Given the description of an element on the screen output the (x, y) to click on. 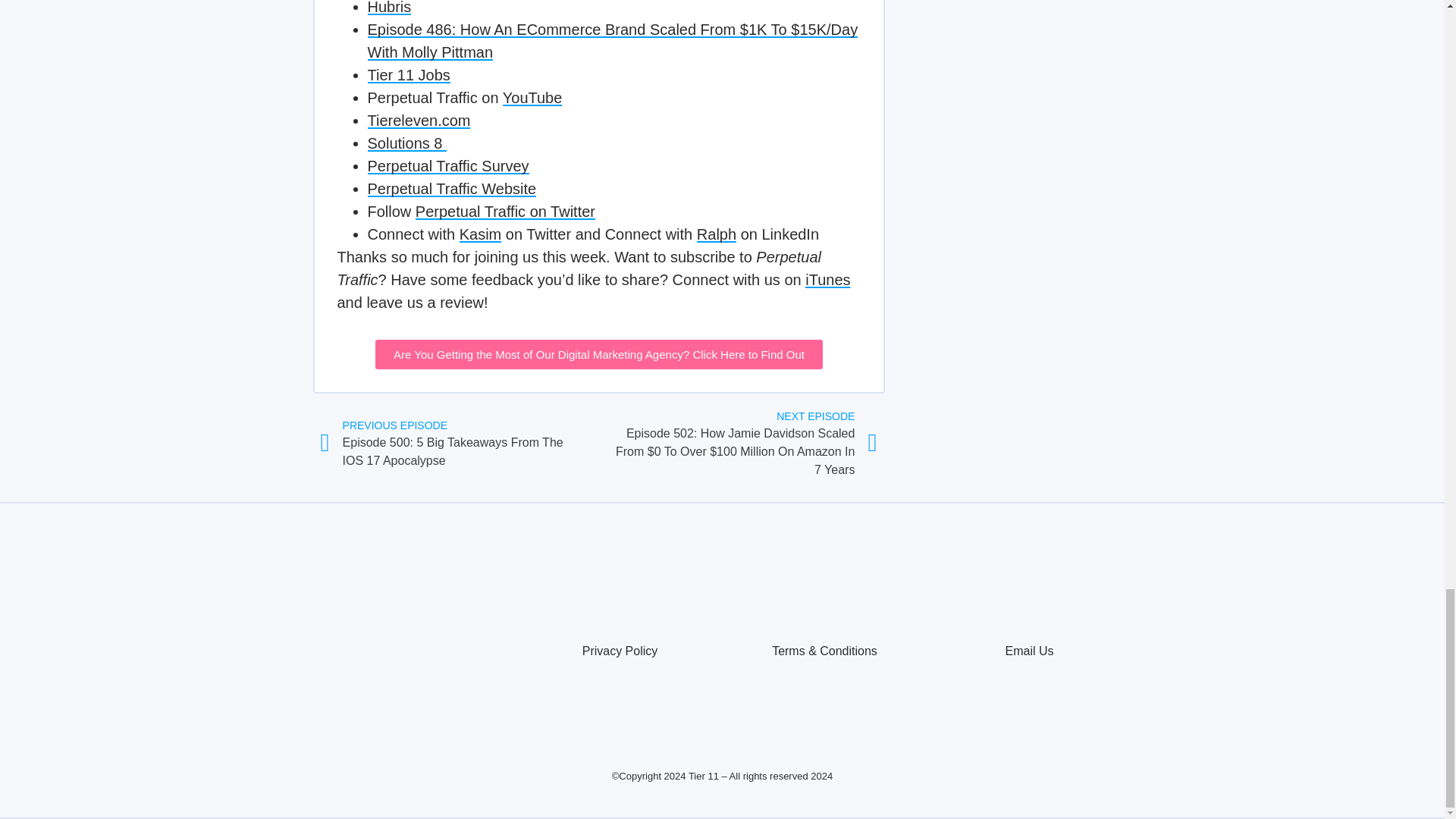
Tiereleven.com (418, 120)
Perpetual Traffic Survey (447, 166)
Perpetual Traffic on Twitter (504, 211)
Tier 11 Jobs (407, 74)
Email Us (1028, 650)
iTunes (827, 279)
Hubris (388, 7)
Ralph (716, 234)
